Given the description of an element on the screen output the (x, y) to click on. 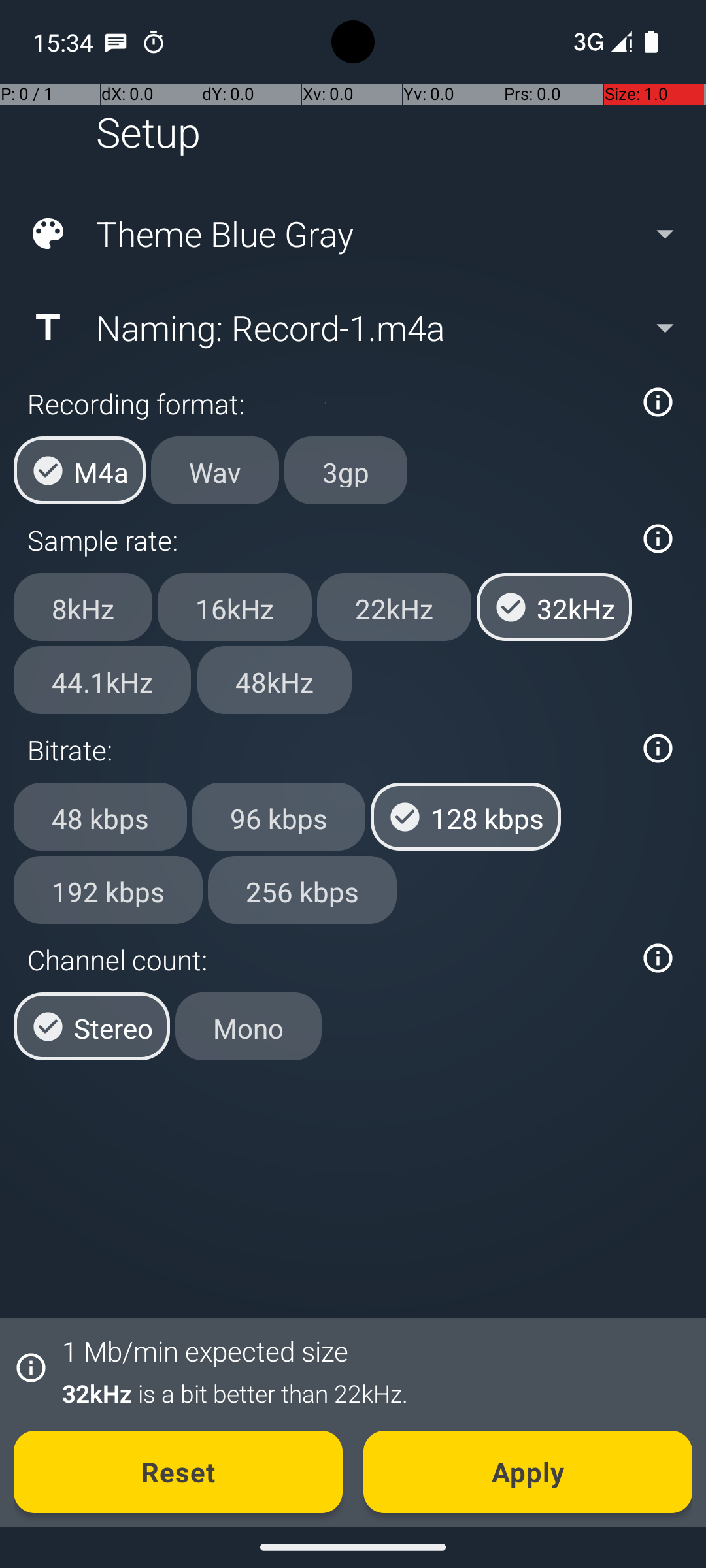
32kHz is a bit better than 22kHz. Element type: android.widget.TextView (370, 1392)
